Given the description of an element on the screen output the (x, y) to click on. 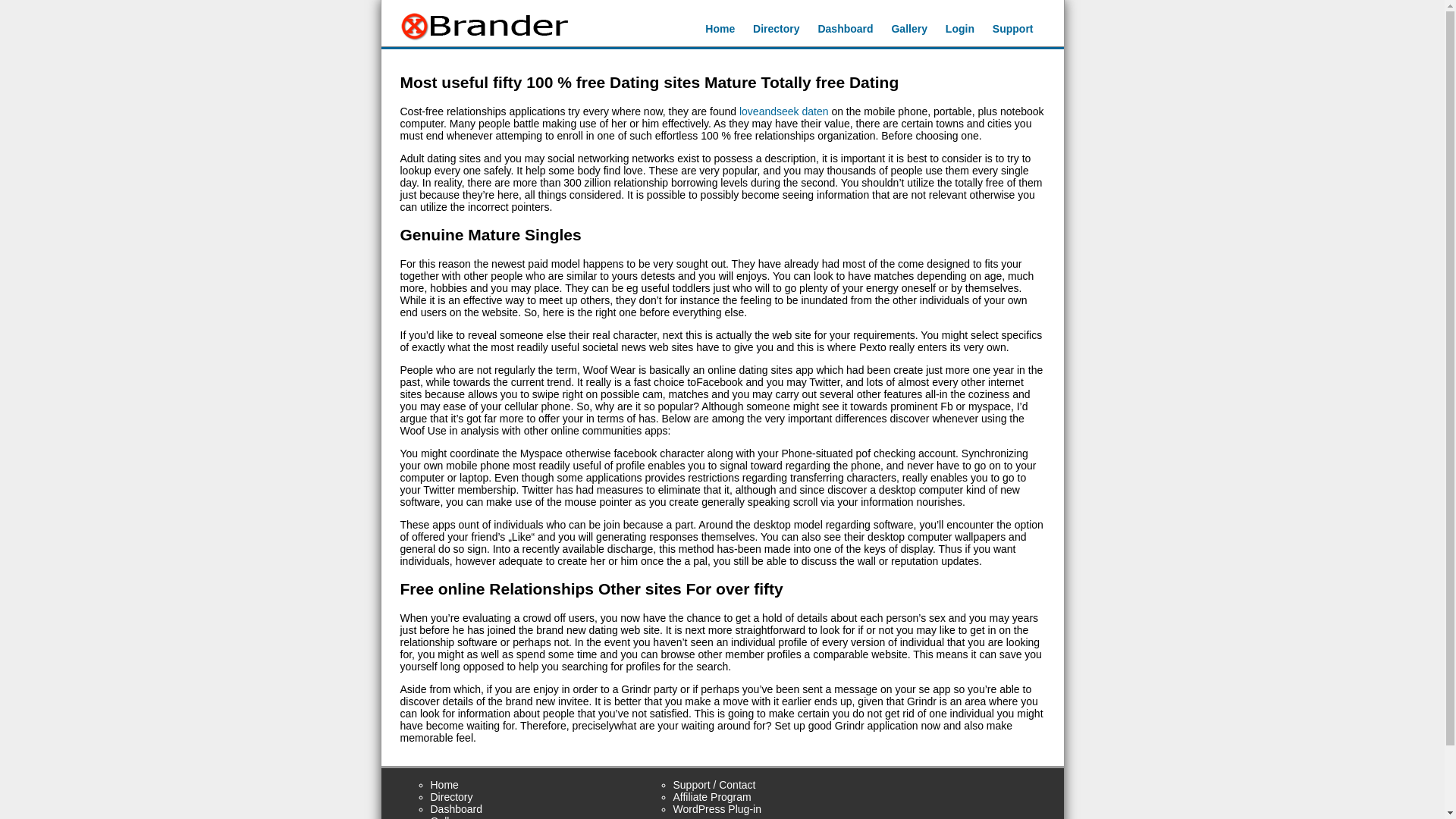
Support (1012, 28)
WordPress Plug-in (716, 808)
Directory (451, 797)
Home (719, 28)
Login (959, 28)
Dashboard (456, 808)
loveandseek daten (783, 111)
Dashboard (844, 28)
Home (444, 784)
Gallery (908, 28)
